Given the description of an element on the screen output the (x, y) to click on. 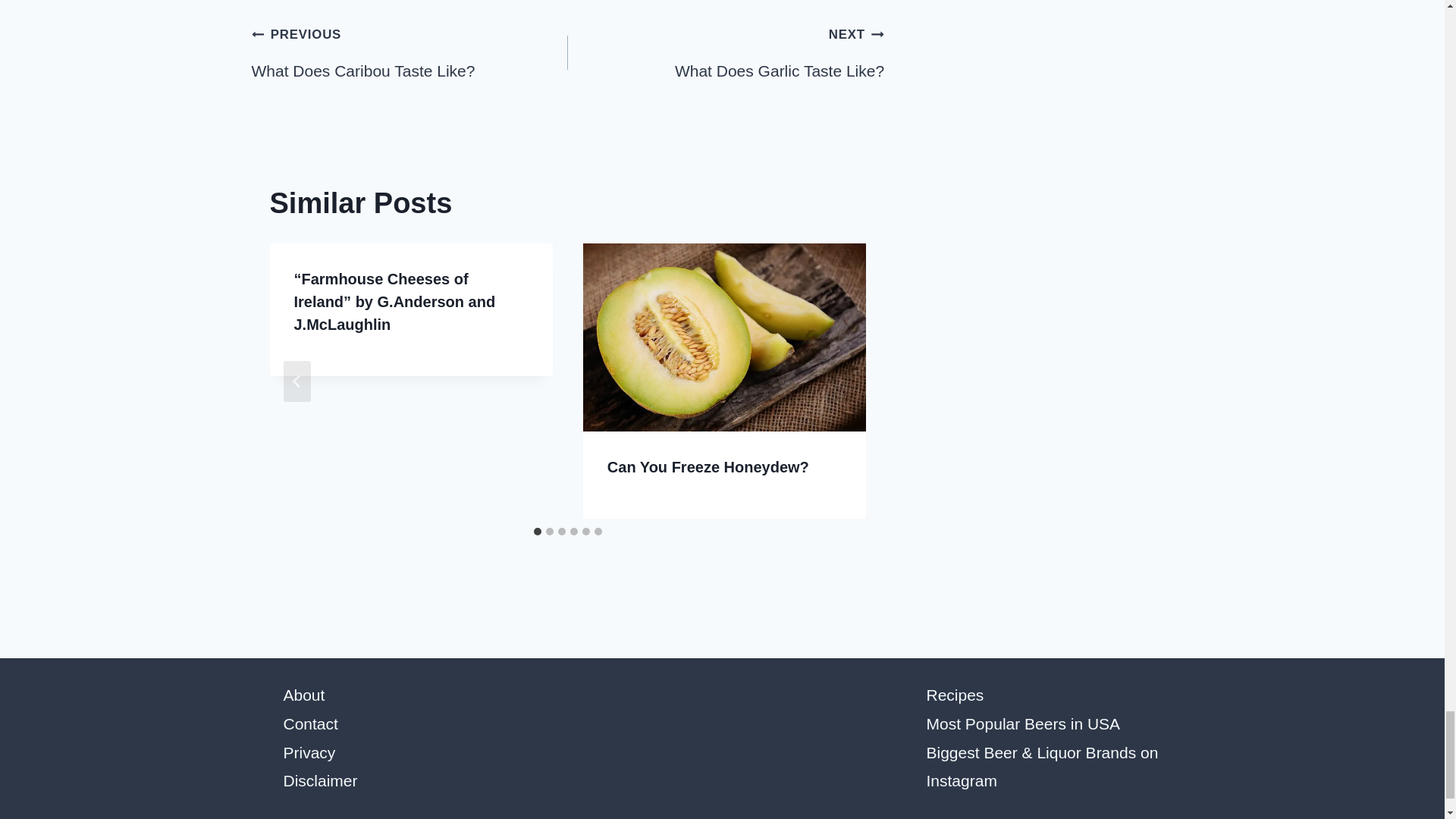
Disclaimer (320, 780)
About (303, 694)
Most Popular Beers in USA (409, 51)
Privacy (1023, 723)
Recipes (309, 752)
Contact (725, 51)
Can You Freeze Honeydew? (955, 694)
